Given the description of an element on the screen output the (x, y) to click on. 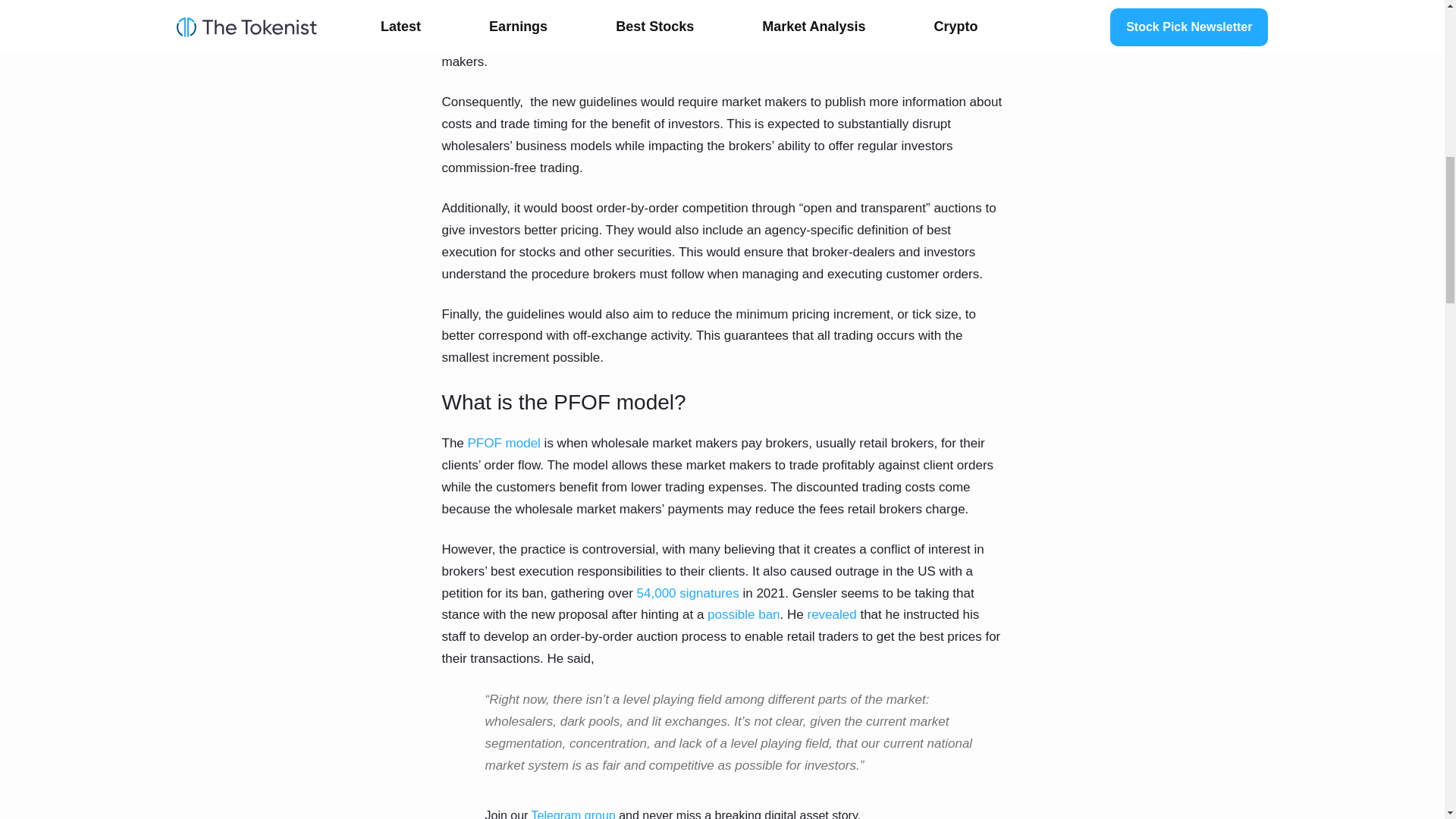
PFOF model (503, 442)
possible ban (742, 614)
revealed (831, 614)
Robinhood Markets (928, 2)
Telegram group (573, 814)
54,000 signatures (686, 592)
